Given the description of an element on the screen output the (x, y) to click on. 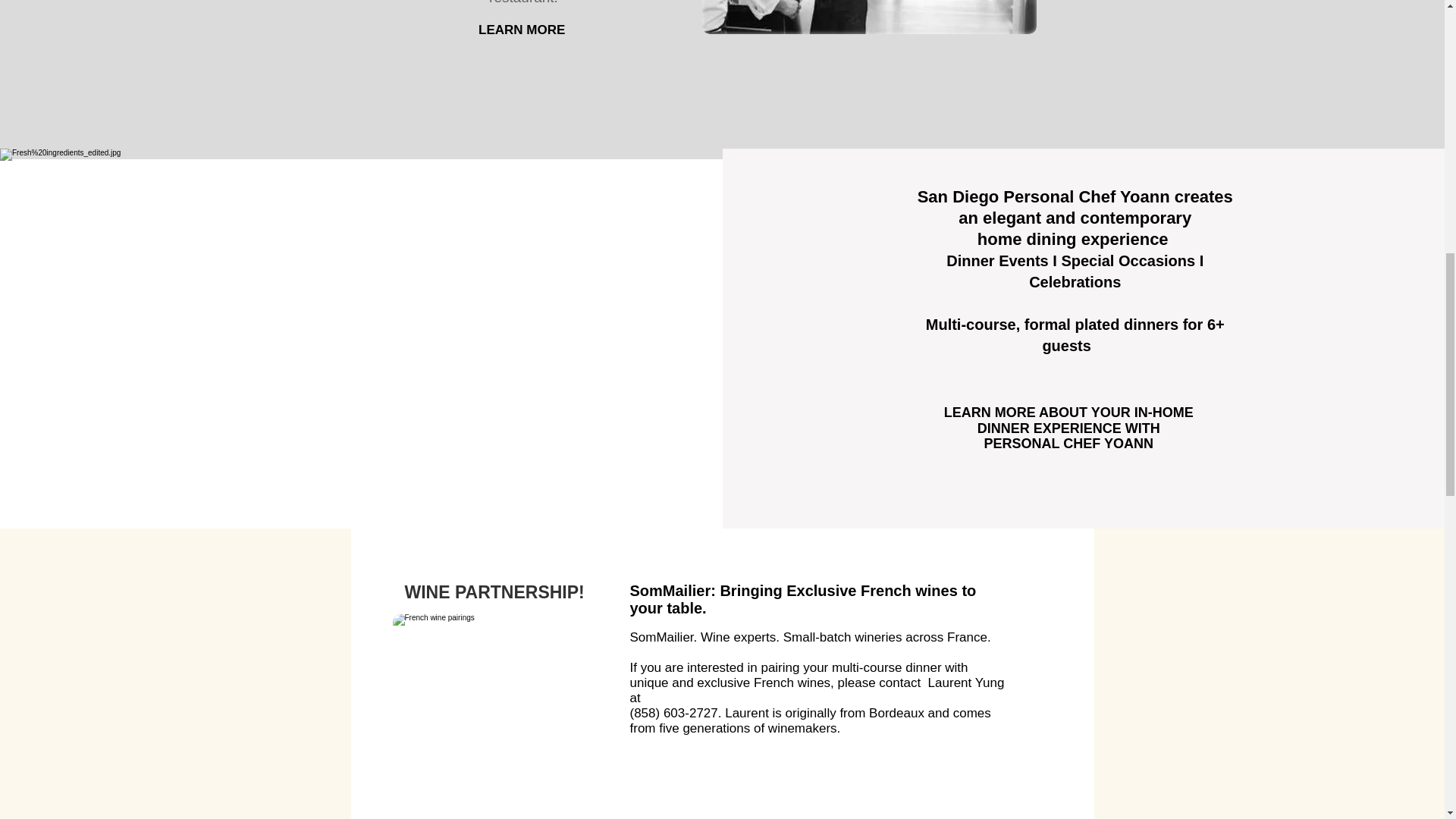
WITH (1142, 427)
DINNER EXPERIENCE (1050, 427)
New wine pairing partnership (499, 696)
Top of Page (712, 50)
LEARN MORE  (524, 29)
PERSONAL CHEF YOANN (1068, 443)
LEARN MORE ABOUT YOUR IN-HOME (1068, 412)
